Given the description of an element on the screen output the (x, y) to click on. 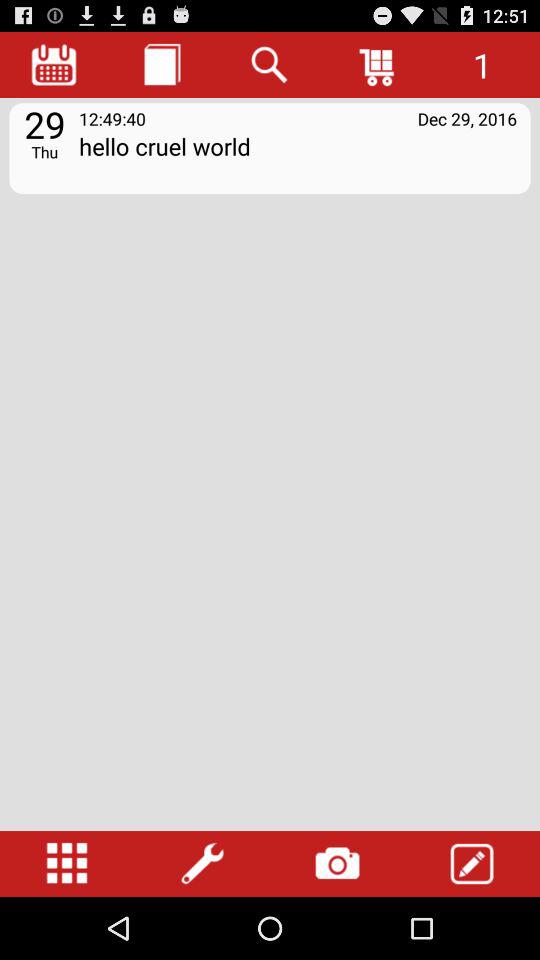
tap the icon above the hello cruel world (269, 64)
